Given the description of an element on the screen output the (x, y) to click on. 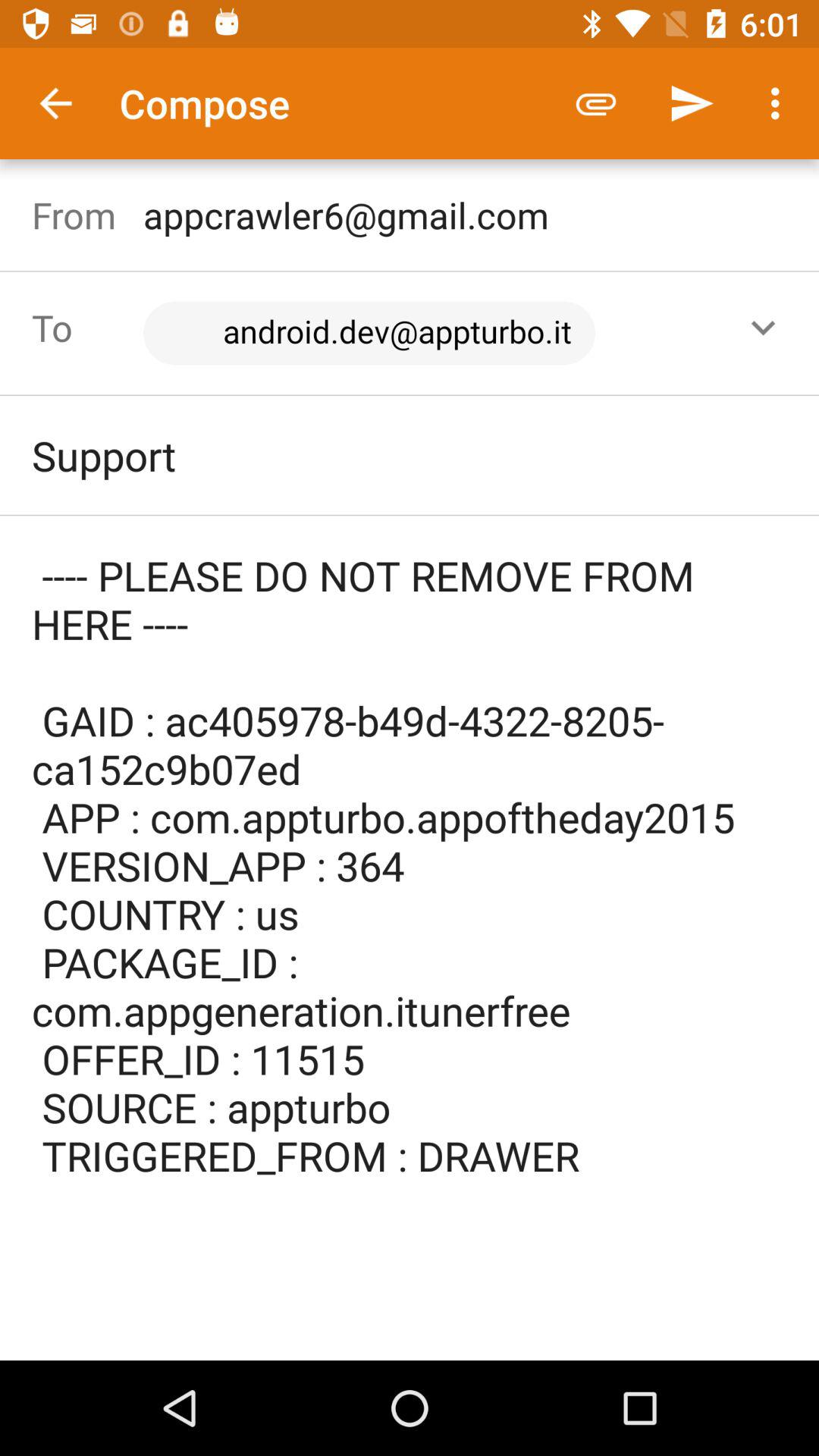
select item next to android dev appturbo item (763, 327)
